Given the description of an element on the screen output the (x, y) to click on. 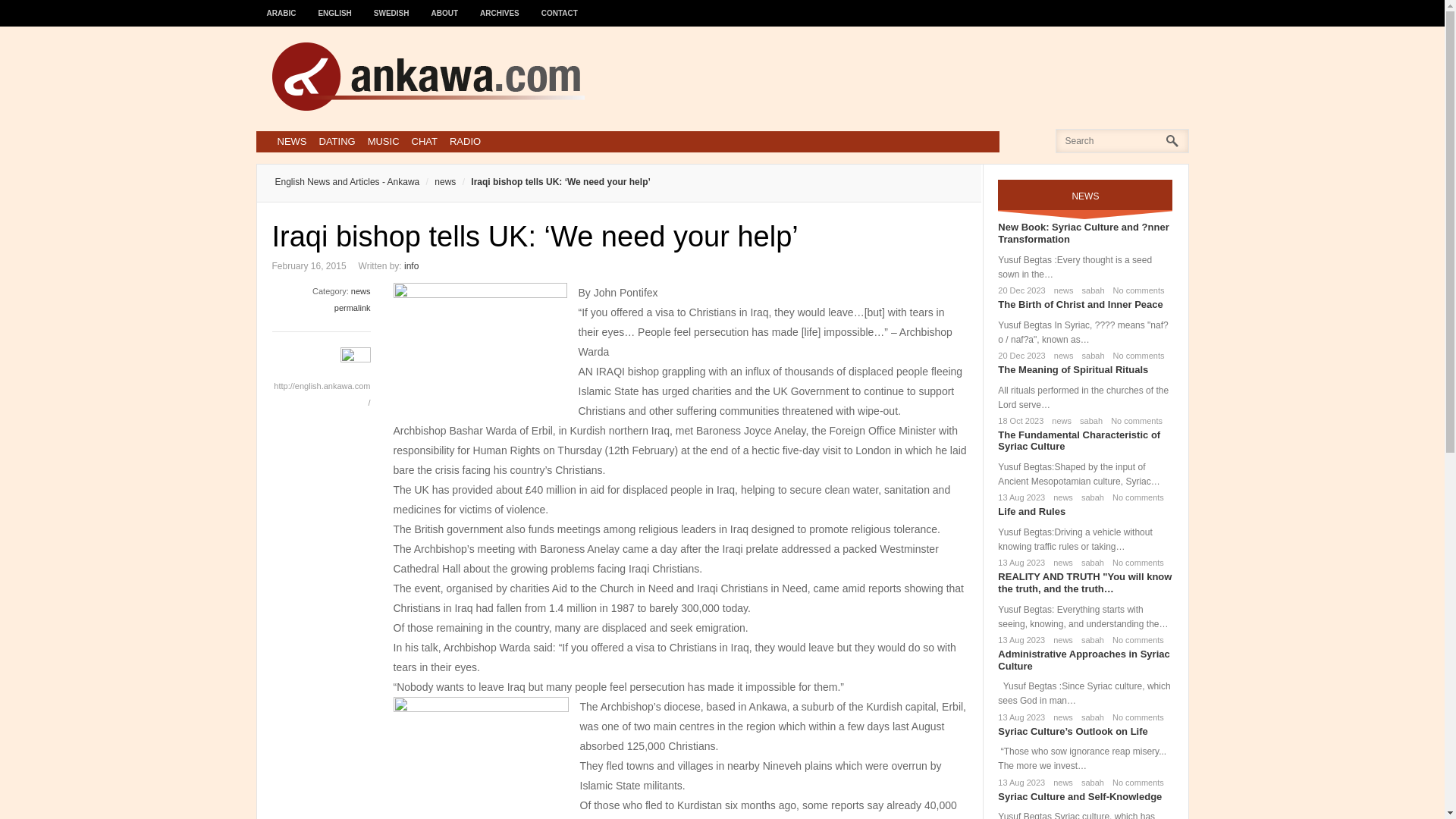
The Meaning of Spiritual Rituals (1072, 369)
news (1059, 497)
sabah (1090, 355)
info (411, 266)
news (1061, 289)
Administrative Approaches in Syriac Culture (1083, 659)
No comments (1134, 497)
New Book: Syriac Culture and ?nner Transformation (1083, 232)
CONTACT (560, 5)
Life and Rules (1031, 511)
